Given the description of an element on the screen output the (x, y) to click on. 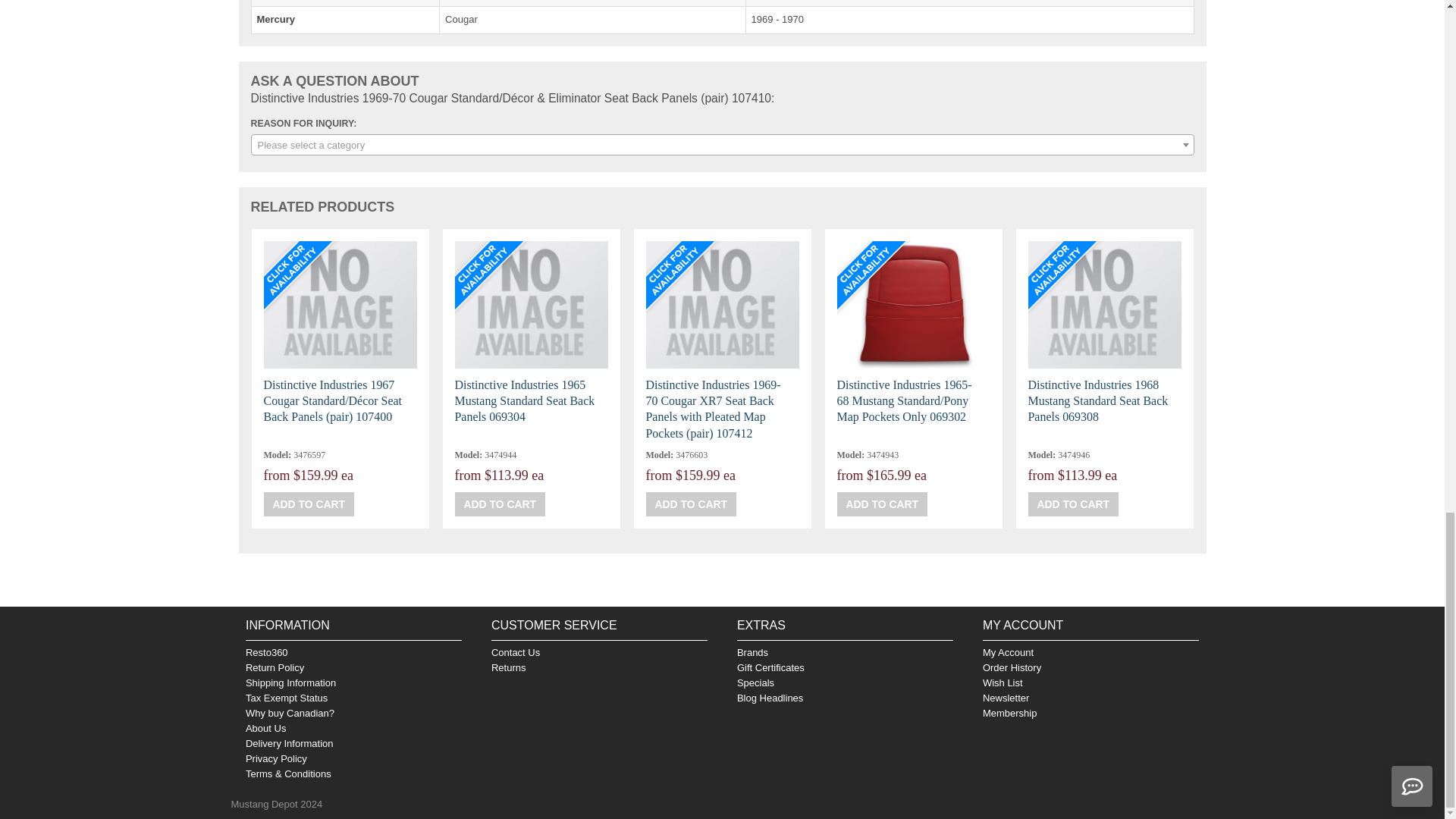
Add to Cart (500, 504)
Add to Cart (309, 504)
Add to Cart (882, 504)
Add to Cart (1073, 504)
Add to Cart (691, 504)
